Given the description of an element on the screen output the (x, y) to click on. 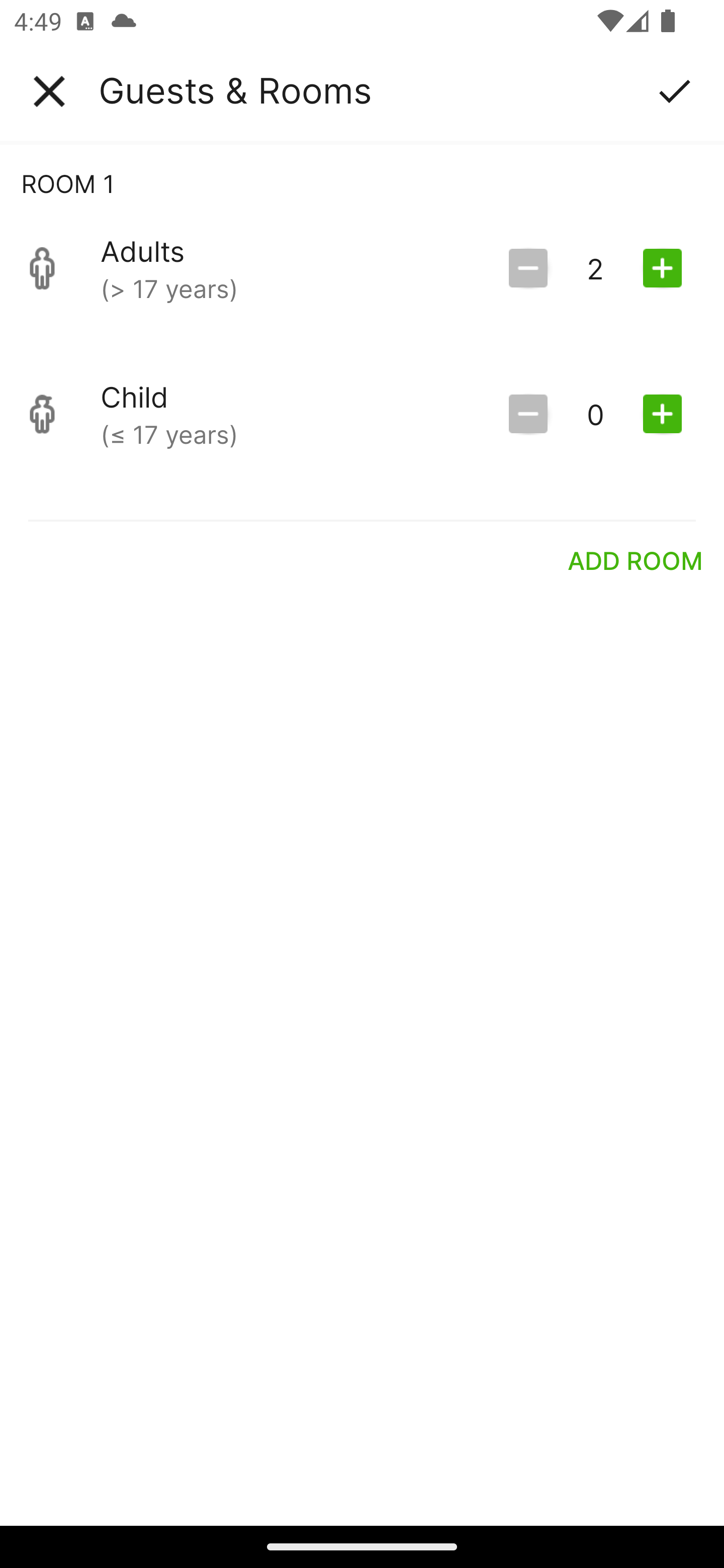
ADD ROOM (635, 560)
